Given the description of an element on the screen output the (x, y) to click on. 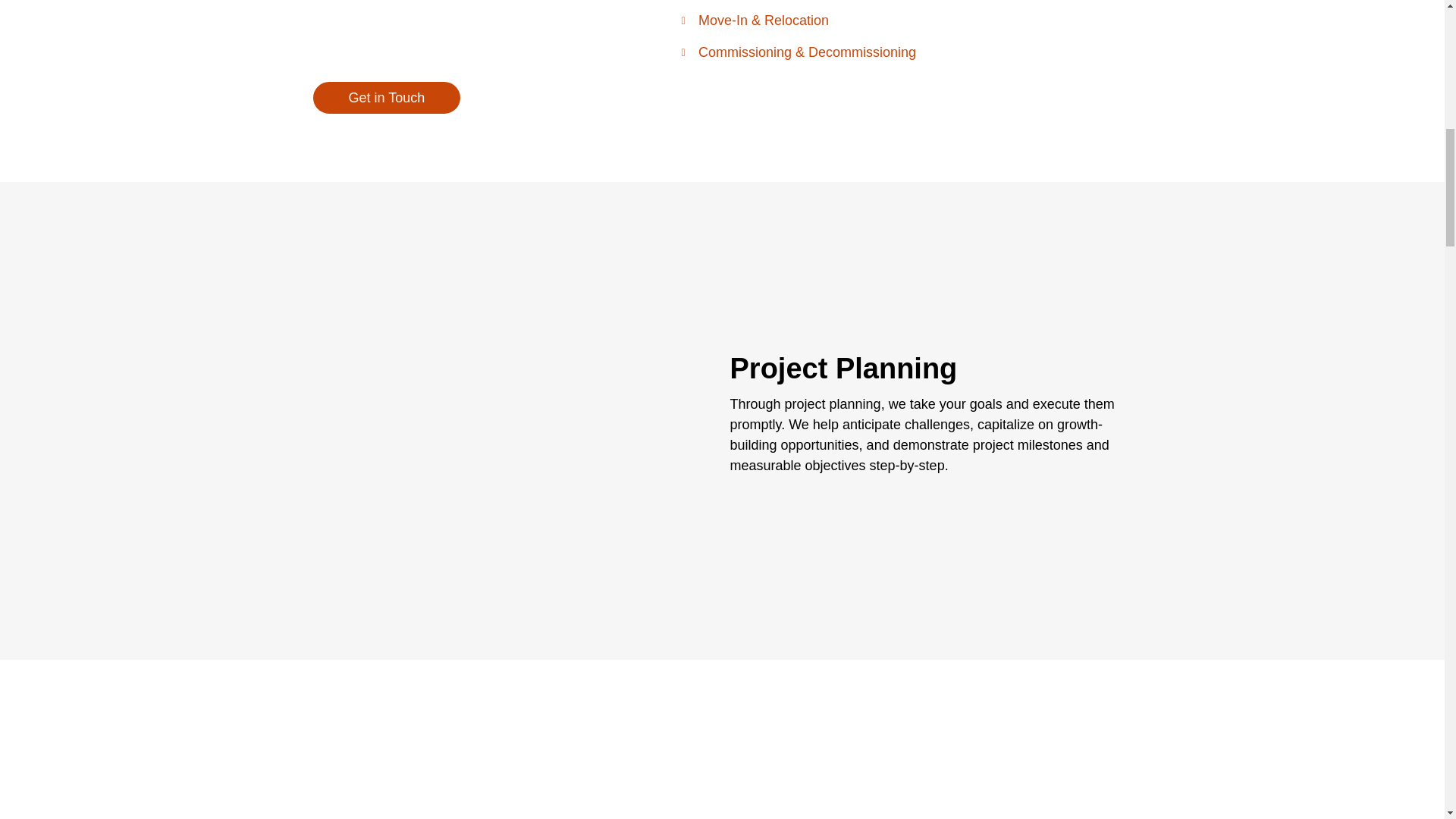
Get in Touch (386, 97)
